Given the description of an element on the screen output the (x, y) to click on. 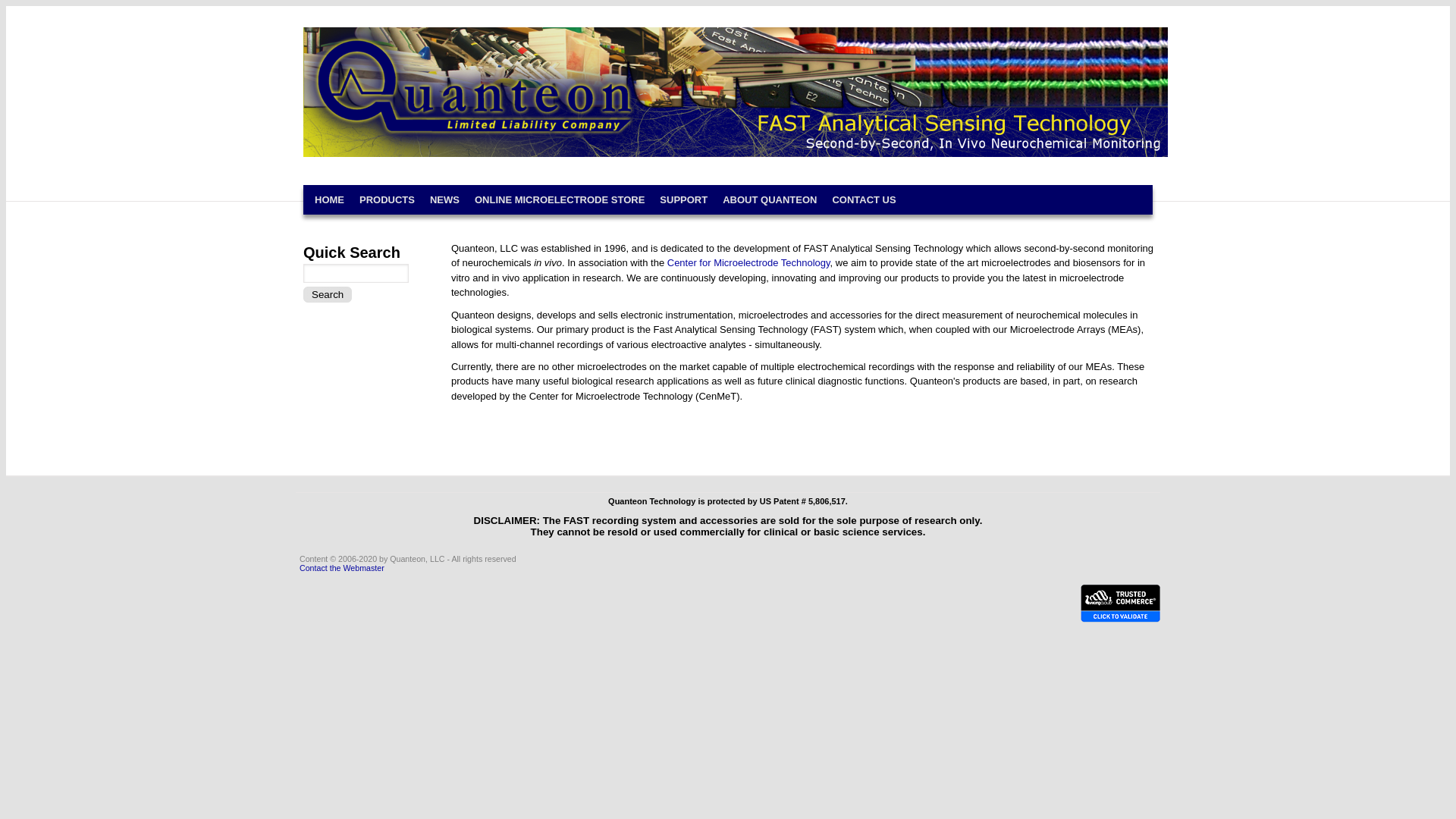
HOME Element type: text (329, 199)
Skip to main content Element type: text (50, 6)
ABOUT QUANTEON Element type: text (769, 199)
Contact the Webmaster Element type: text (341, 566)
SUPPORT Element type: text (683, 199)
Enter the terms you wish to search for. Element type: hover (355, 272)
Search Element type: text (327, 294)
Quanteon Element type: text (360, 39)
PRODUCTS Element type: text (386, 199)
ONLINE MICROELECTRODE STORE Element type: text (559, 199)
NEWS Element type: text (444, 199)
CONTACT US Element type: text (863, 199)
Center for Microelectrode Technology Element type: text (746, 262)
